Given the description of an element on the screen output the (x, y) to click on. 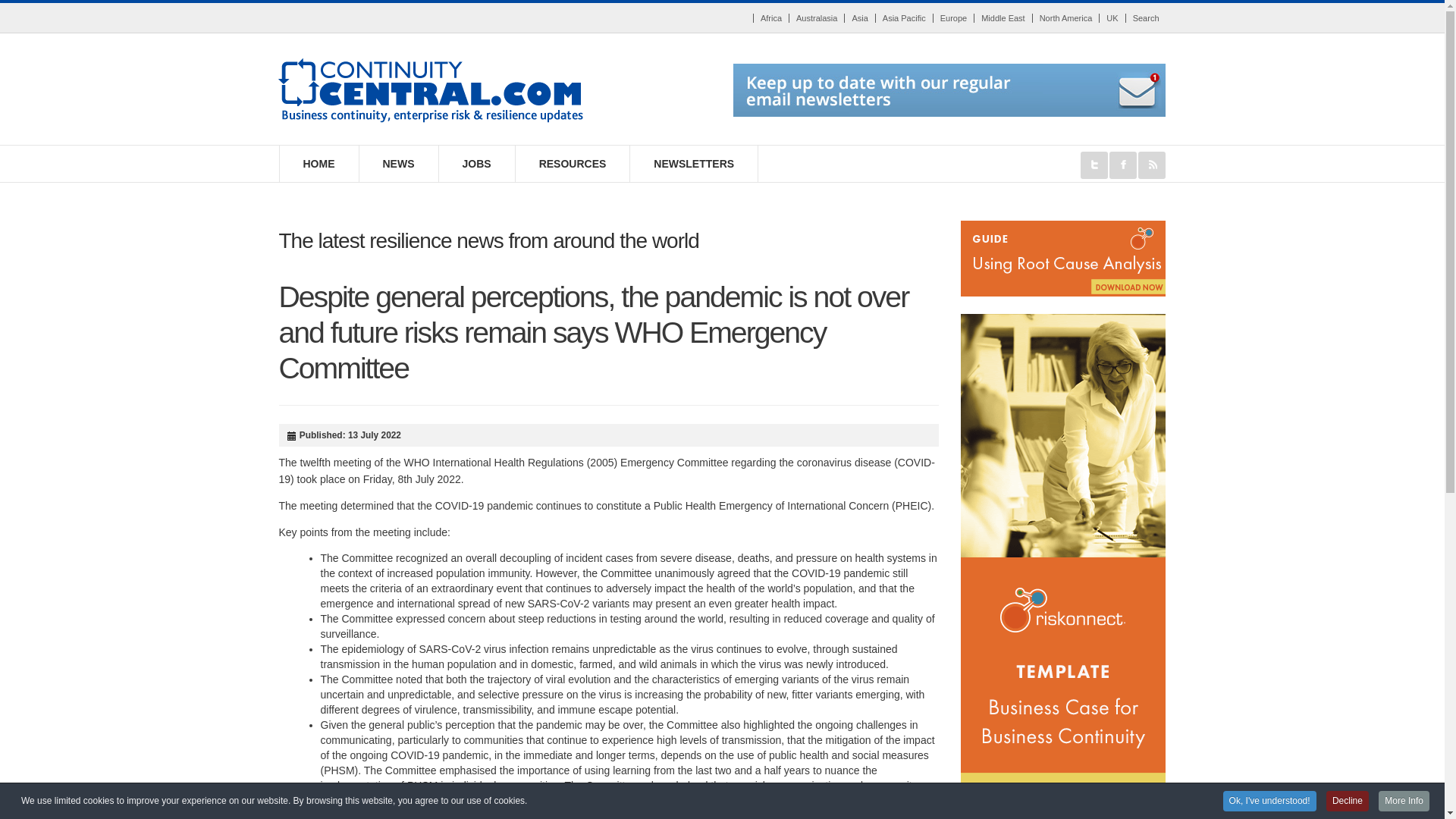
Twitter (1094, 165)
NEWS (399, 163)
HOME (318, 163)
RESOURCES (572, 163)
Facebook (1123, 165)
NEWSLETTERS (694, 163)
Africa (770, 17)
Search (1145, 17)
Root Cause Analysis (1063, 257)
Asia Pacific (904, 17)
RSS (1152, 165)
UK (1111, 17)
Newsletters (949, 89)
Middle East (1002, 17)
Australasia (816, 17)
